Given the description of an element on the screen output the (x, y) to click on. 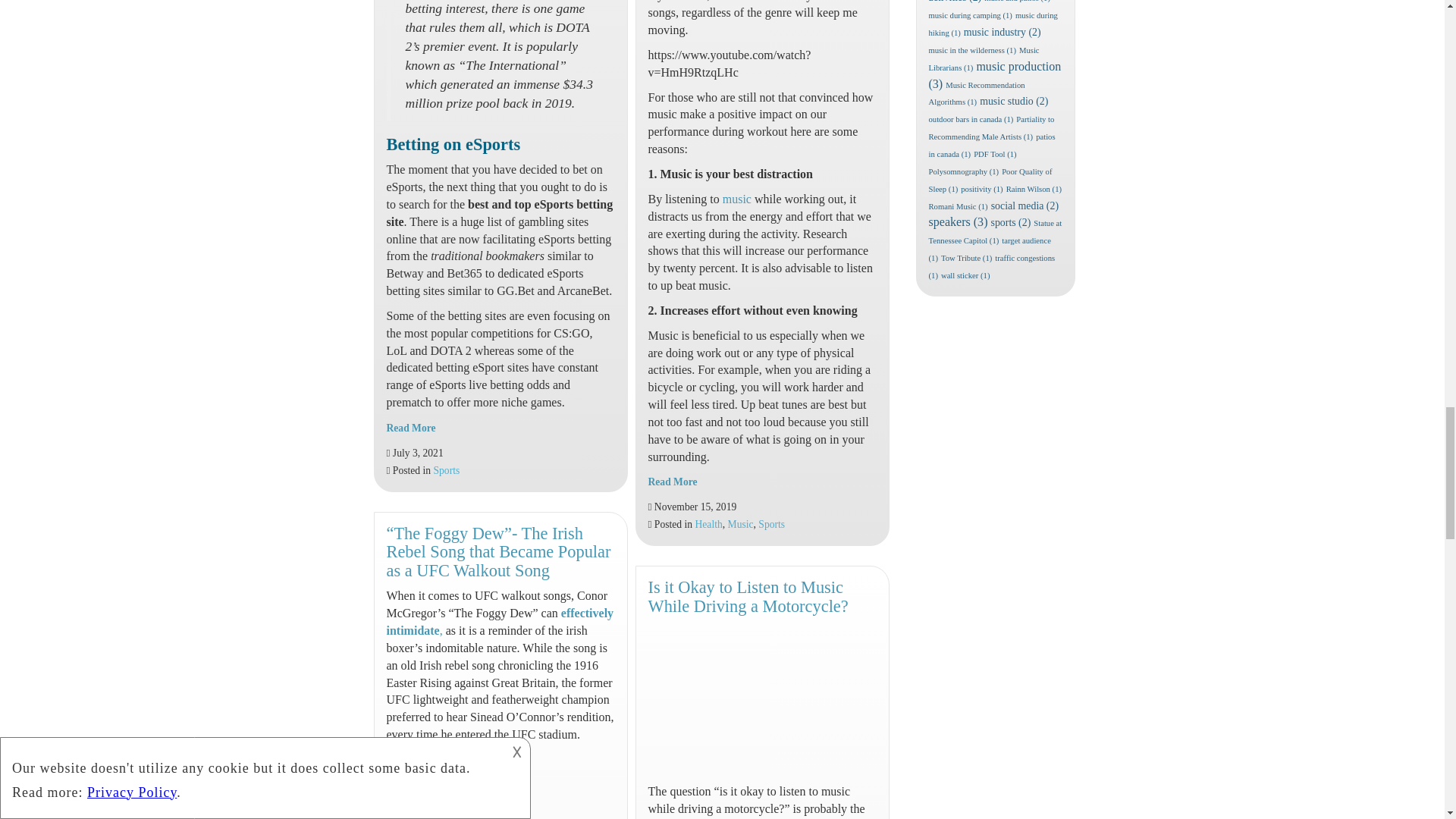
effectively intimidate, (500, 621)
Everything You must Know before Betting on eSports (411, 428)
Sports (446, 470)
Read More (411, 428)
